Given the description of an element on the screen output the (x, y) to click on. 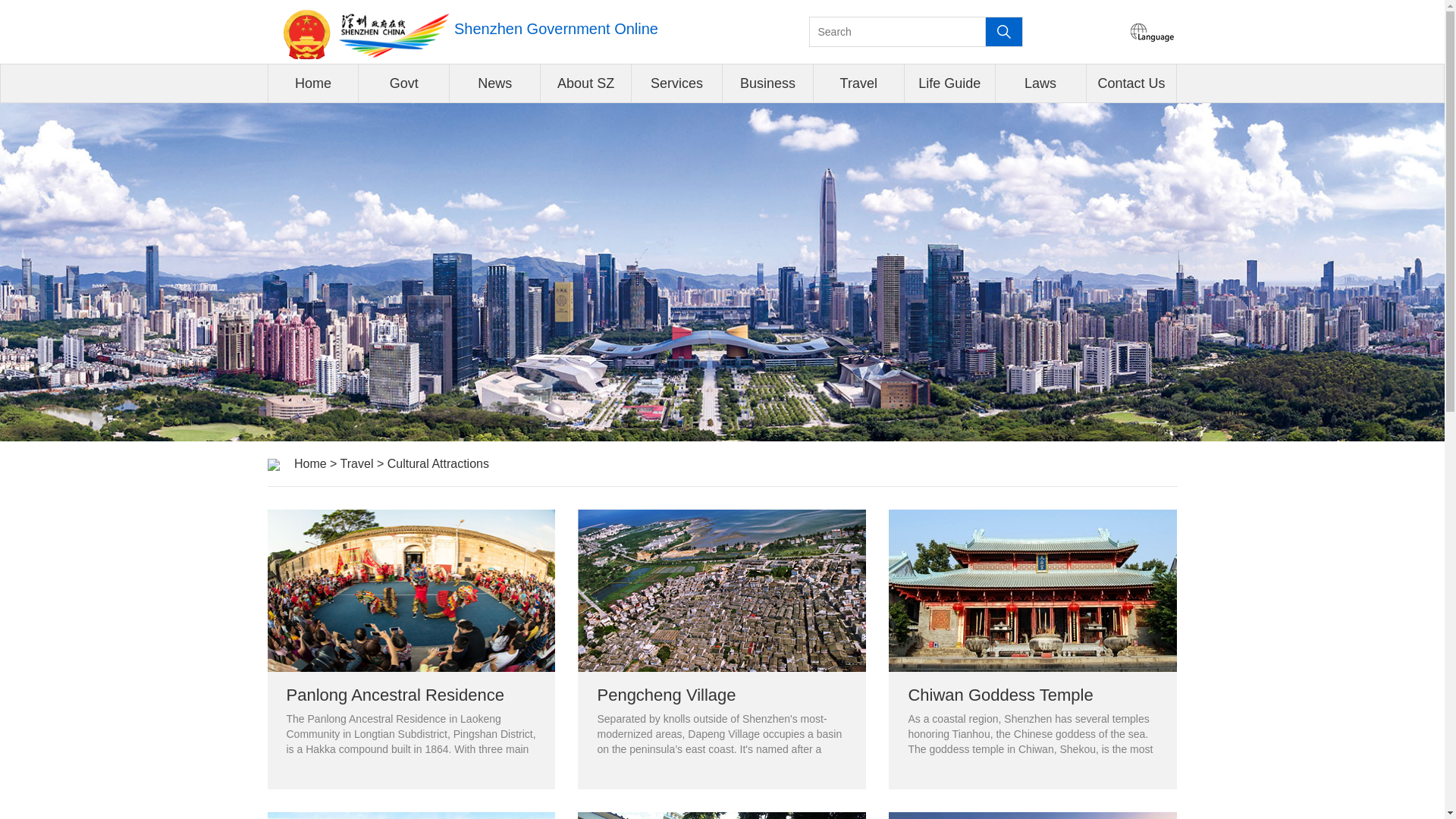
Chiwan Goddess Temple (1032, 649)
Home (312, 83)
Panlong Ancestral Residence (410, 649)
Pengcheng Village (722, 649)
Govt (403, 83)
About SZ (585, 83)
The Bay Glory (1032, 815)
News (494, 83)
Longtian Ancestral Residence (410, 815)
